Given the description of an element on the screen output the (x, y) to click on. 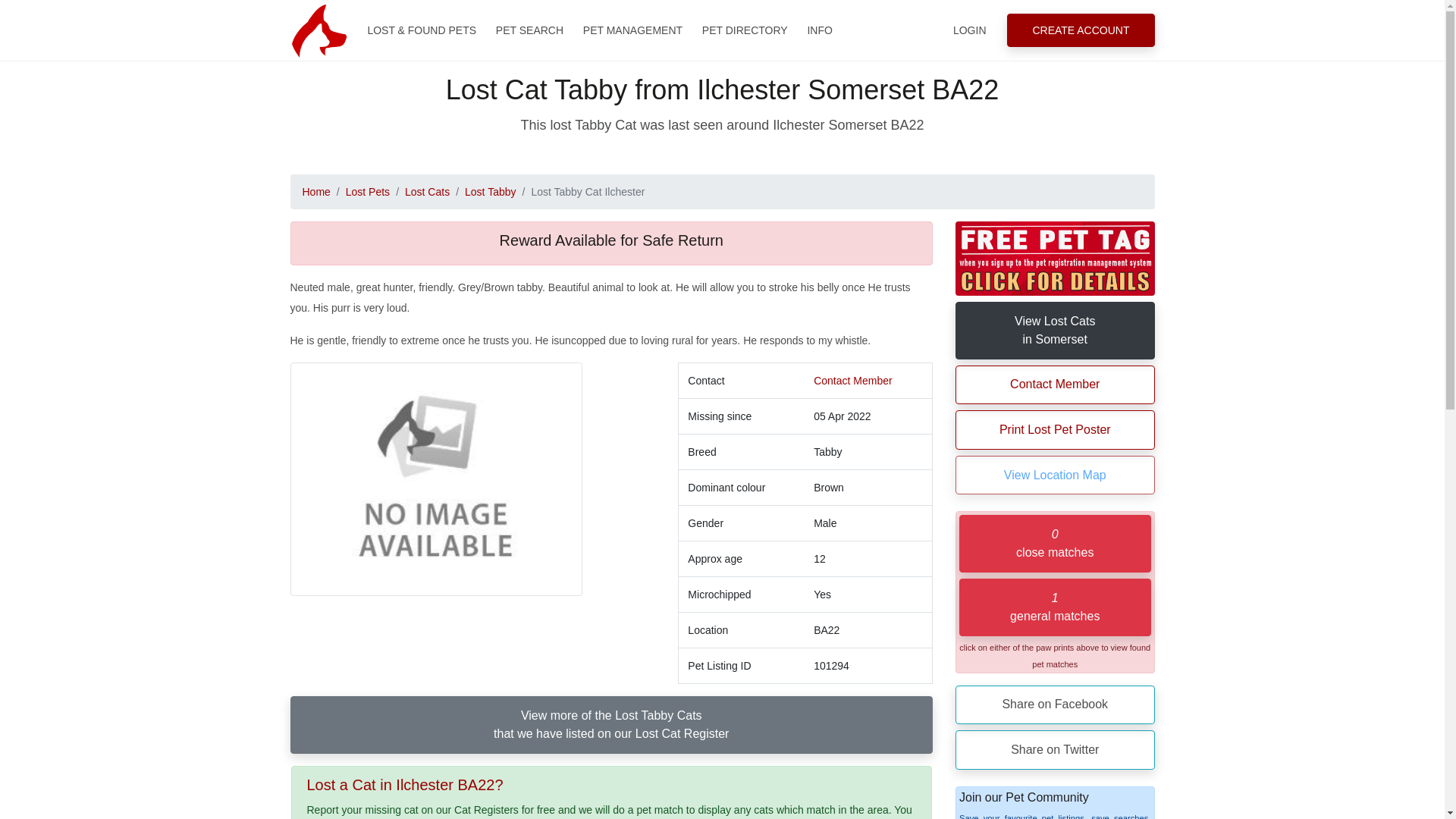
National Pet Register (317, 30)
CREATE ACCOUNT (1080, 29)
Lost Tabby (489, 191)
PET SEARCH (529, 30)
PET MANAGEMENT (632, 30)
share on FaceBook (1054, 704)
Contact Member (852, 380)
Lost Pets (368, 191)
Lost Cats (426, 191)
